Given the description of an element on the screen output the (x, y) to click on. 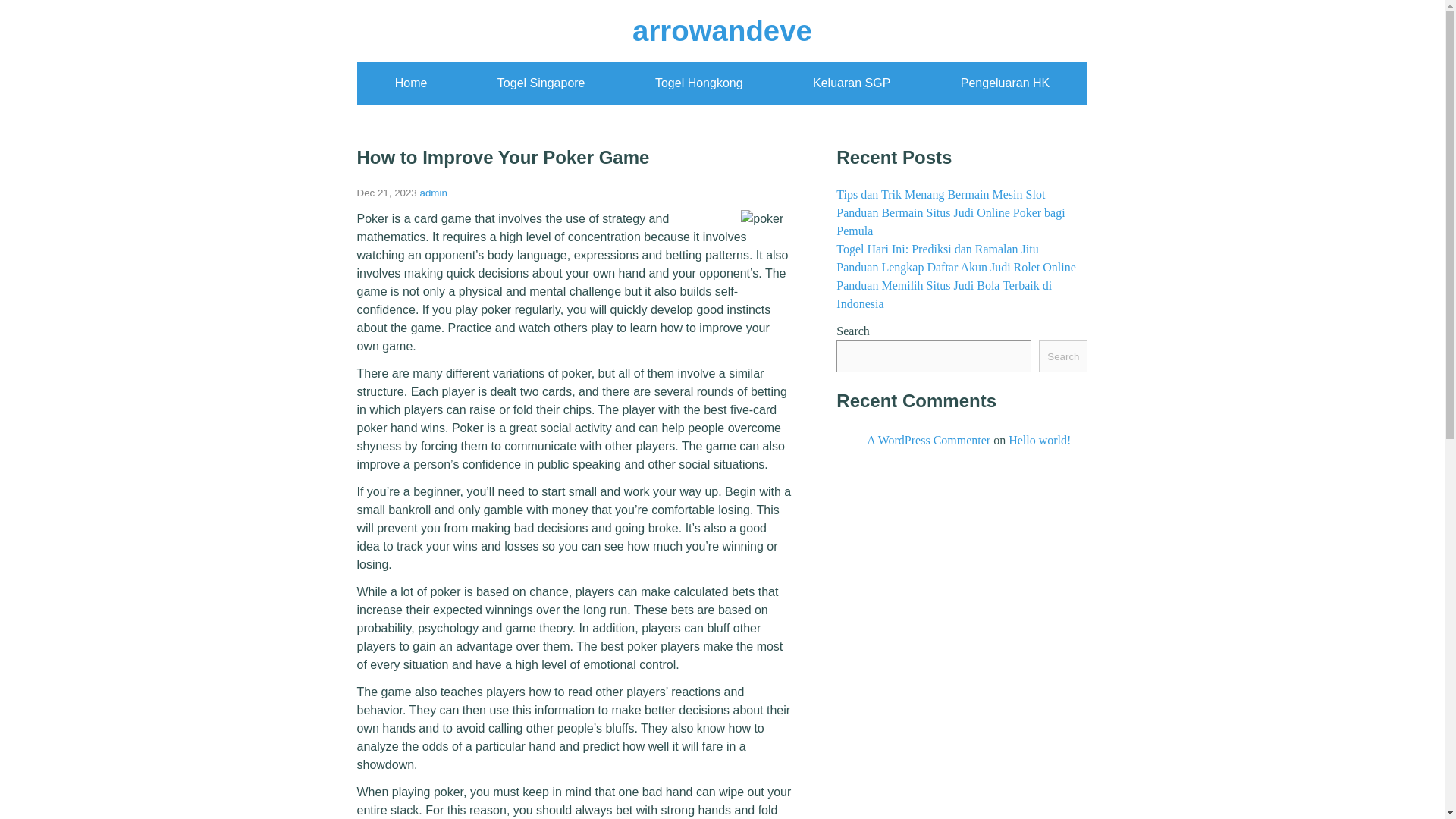
Panduan Bermain Situs Judi Online Poker bagi Pemula (949, 221)
Togel Singapore (541, 82)
Hello world! (1039, 440)
Home (411, 82)
Panduan Lengkap Daftar Akun Judi Rolet Online (955, 267)
Panduan Memilih Situs Judi Bola Terbaik di Indonesia (943, 294)
Keluaran SGP (850, 82)
Togel Hongkong (698, 82)
Tips dan Trik Menang Bermain Mesin Slot (940, 194)
Search (1063, 356)
